Given the description of an element on the screen output the (x, y) to click on. 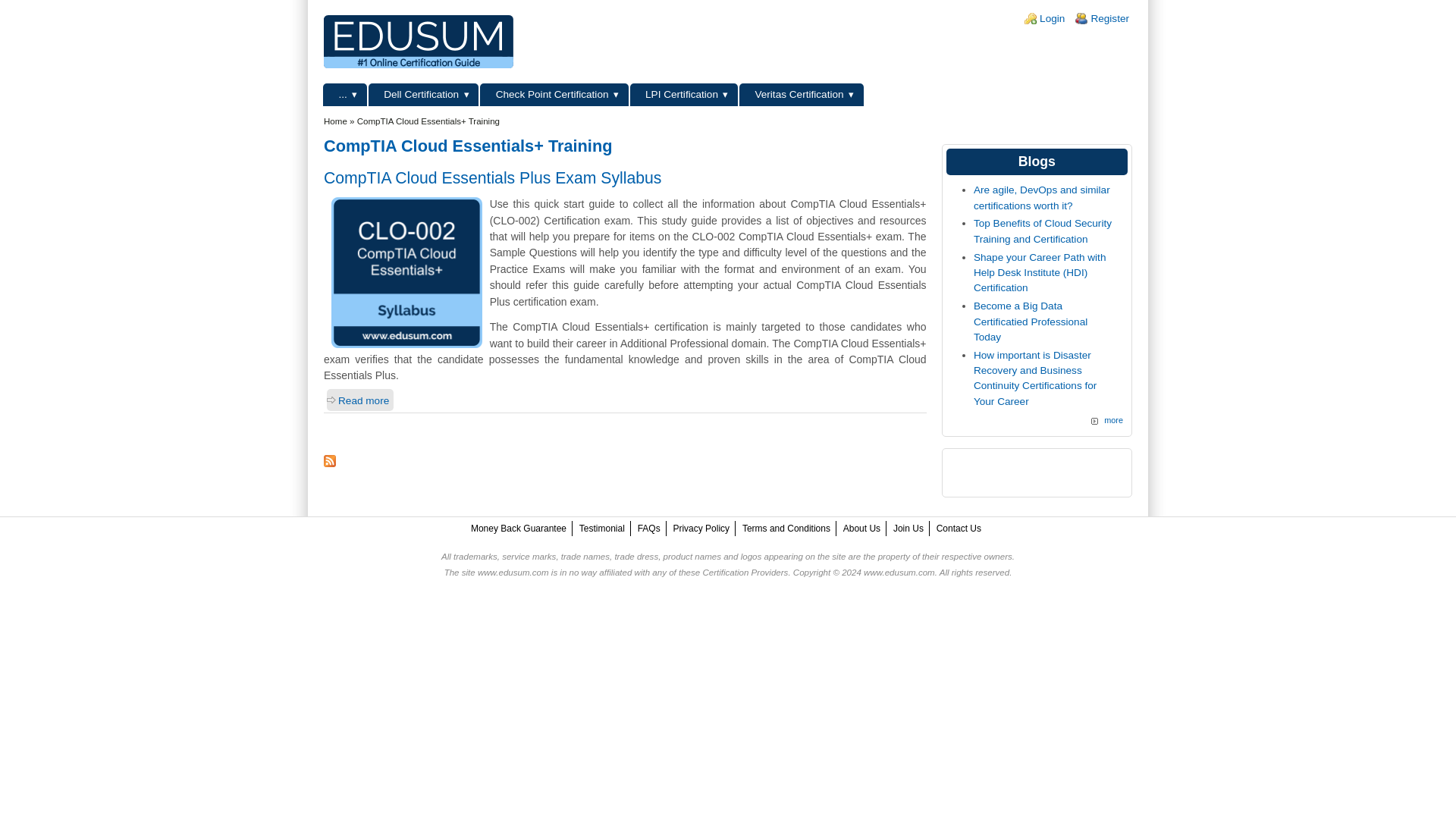
... (344, 94)
Register (1109, 18)
Login (1051, 18)
Skip to search (32, 0)
